Given the description of an element on the screen output the (x, y) to click on. 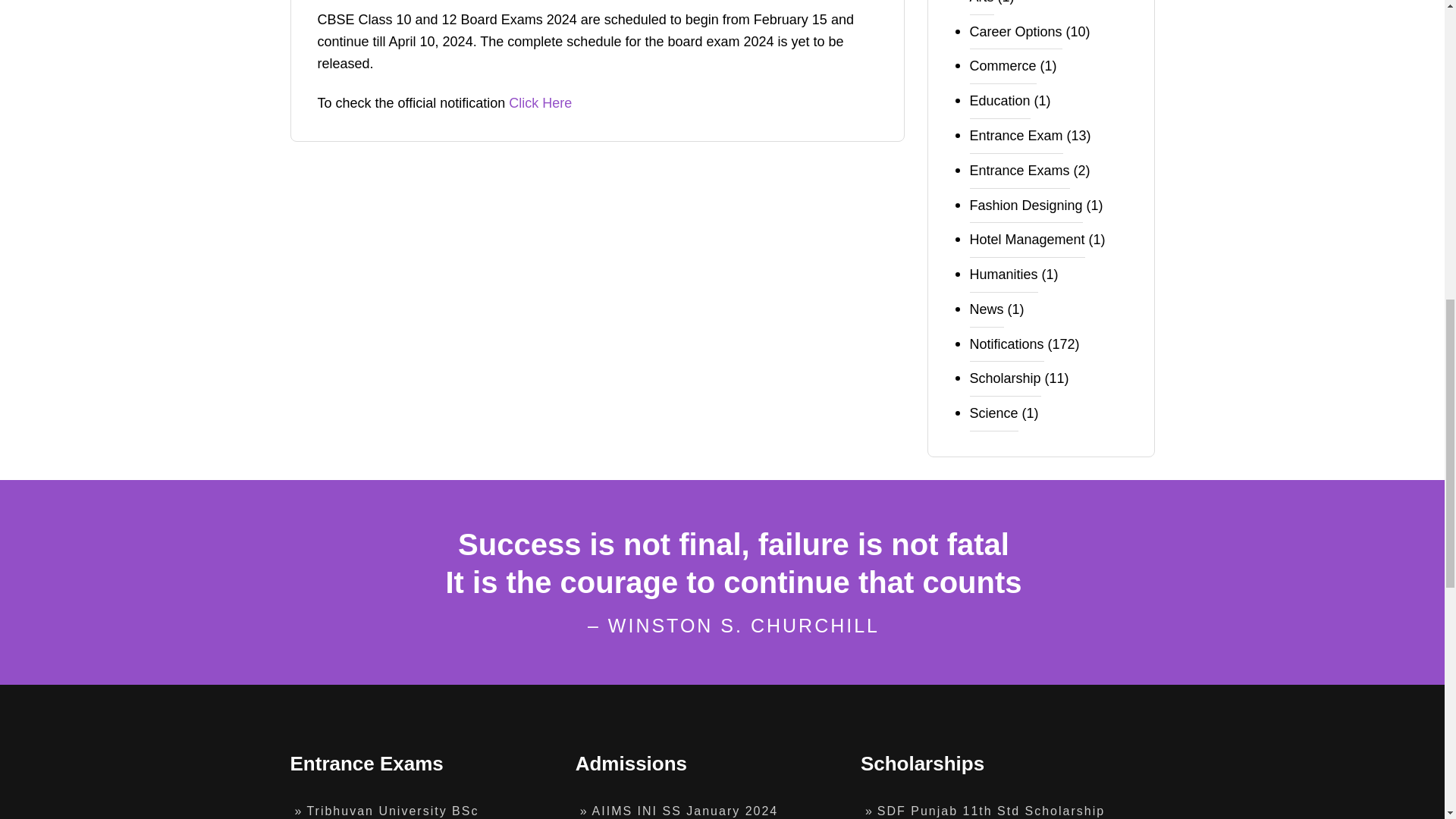
Career Options (1015, 32)
Click Here (540, 102)
Arts (980, 7)
Commerce (1002, 66)
